Given the description of an element on the screen output the (x, y) to click on. 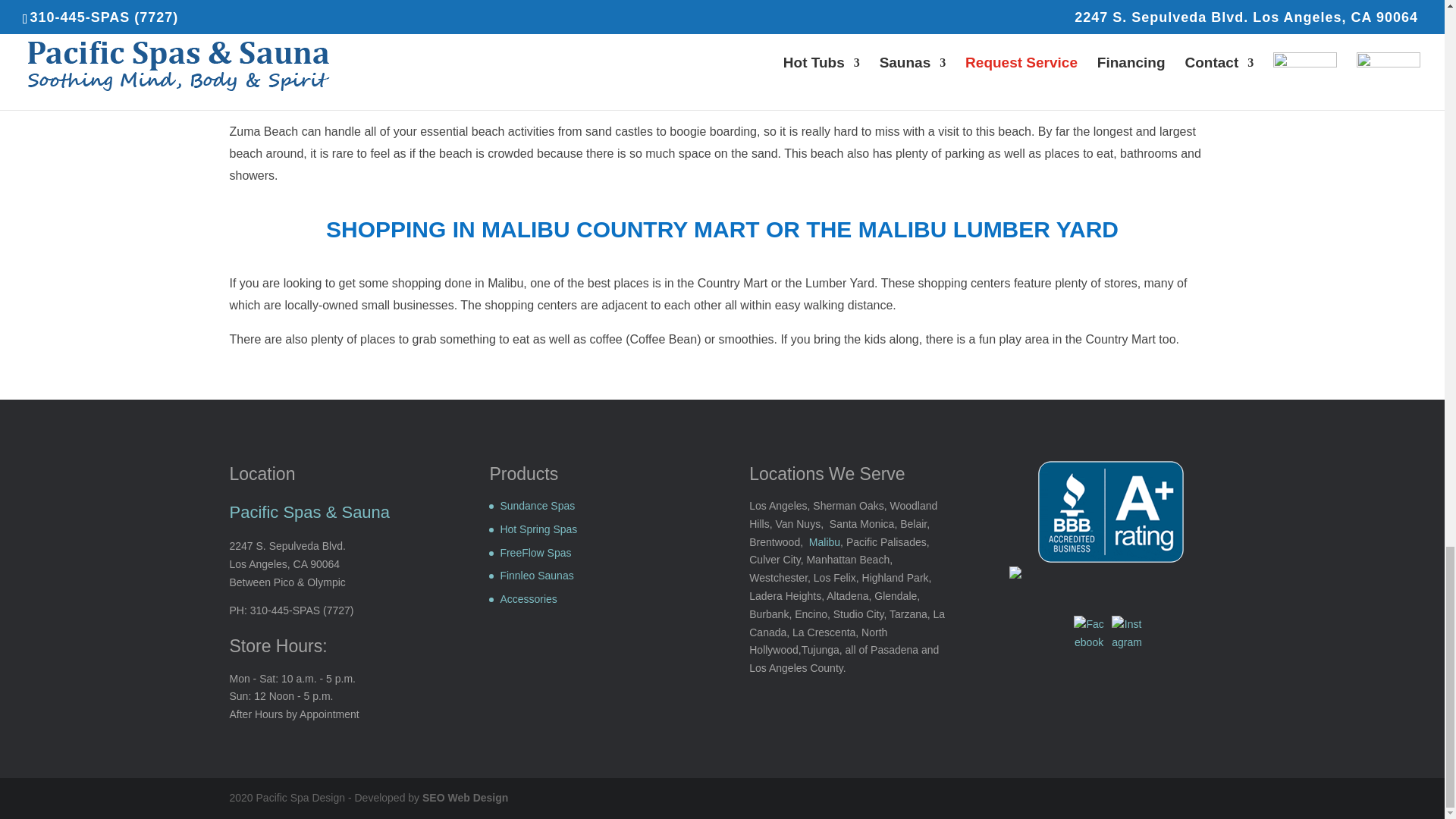
Hot Spring Spas (537, 529)
FreeFlow Spas (534, 552)
Accessories (527, 598)
Sundance Spas (537, 505)
Malibu (824, 541)
SEO Web Design (465, 797)
Finnleo Saunas (536, 575)
